Given the description of an element on the screen output the (x, y) to click on. 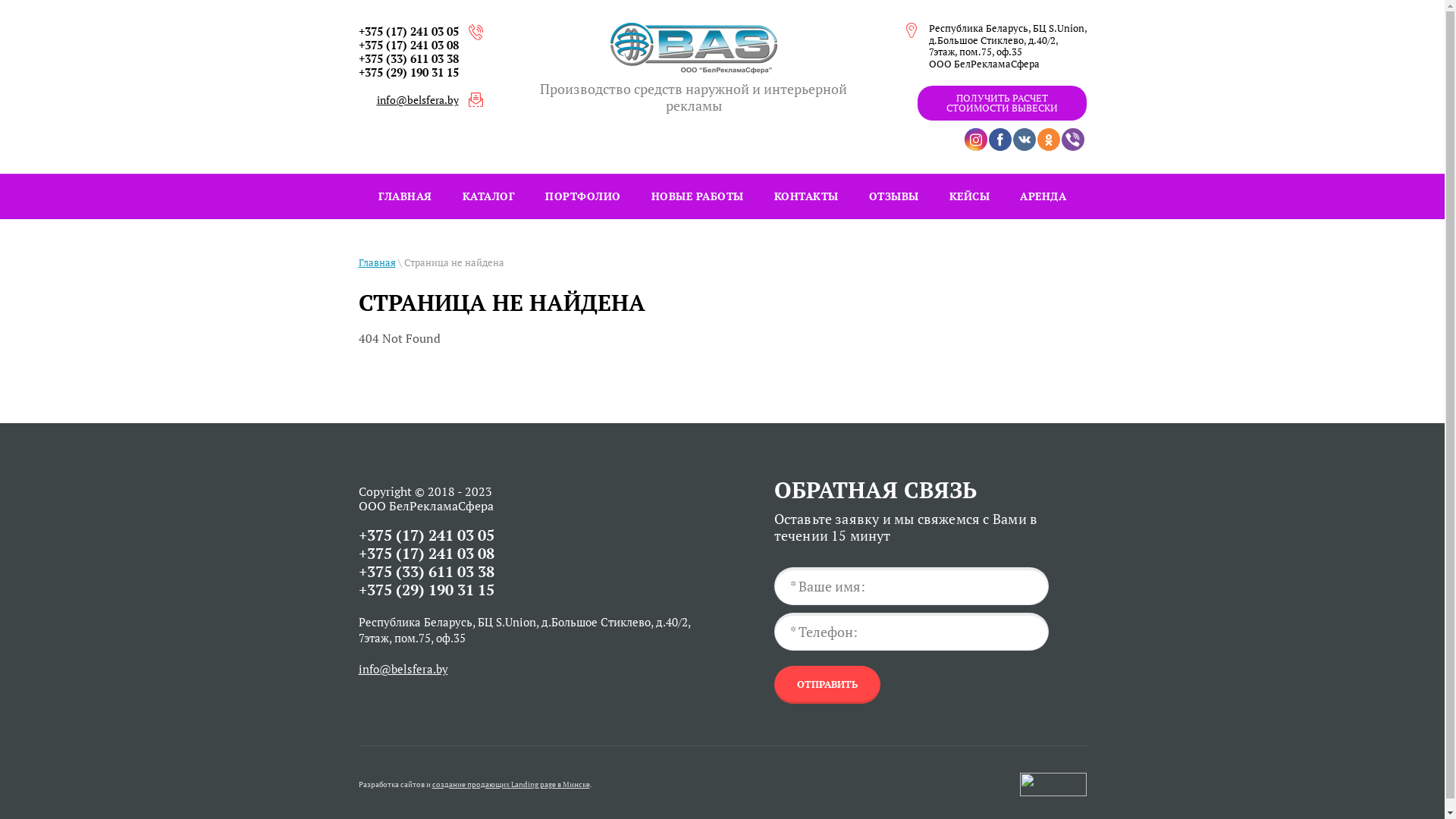
+375 (17) 241 03 08 Element type: text (407, 44)
info@belsfera.by Element type: text (402, 668)
+375 (17) 241 03 05 Element type: text (425, 534)
+375 (17) 241 03 08 Element type: text (425, 552)
+375 (29) 190 31 15 Element type: text (425, 589)
+375 (29) 190 31 15 Element type: text (407, 71)
+375 (33) 611 03 38 Element type: text (407, 57)
info@belsfera.by Element type: text (417, 99)
+375 (33) 611 03 38 Element type: text (425, 571)
+375 (17) 241 03 05 Element type: text (407, 30)
